Given the description of an element on the screen output the (x, y) to click on. 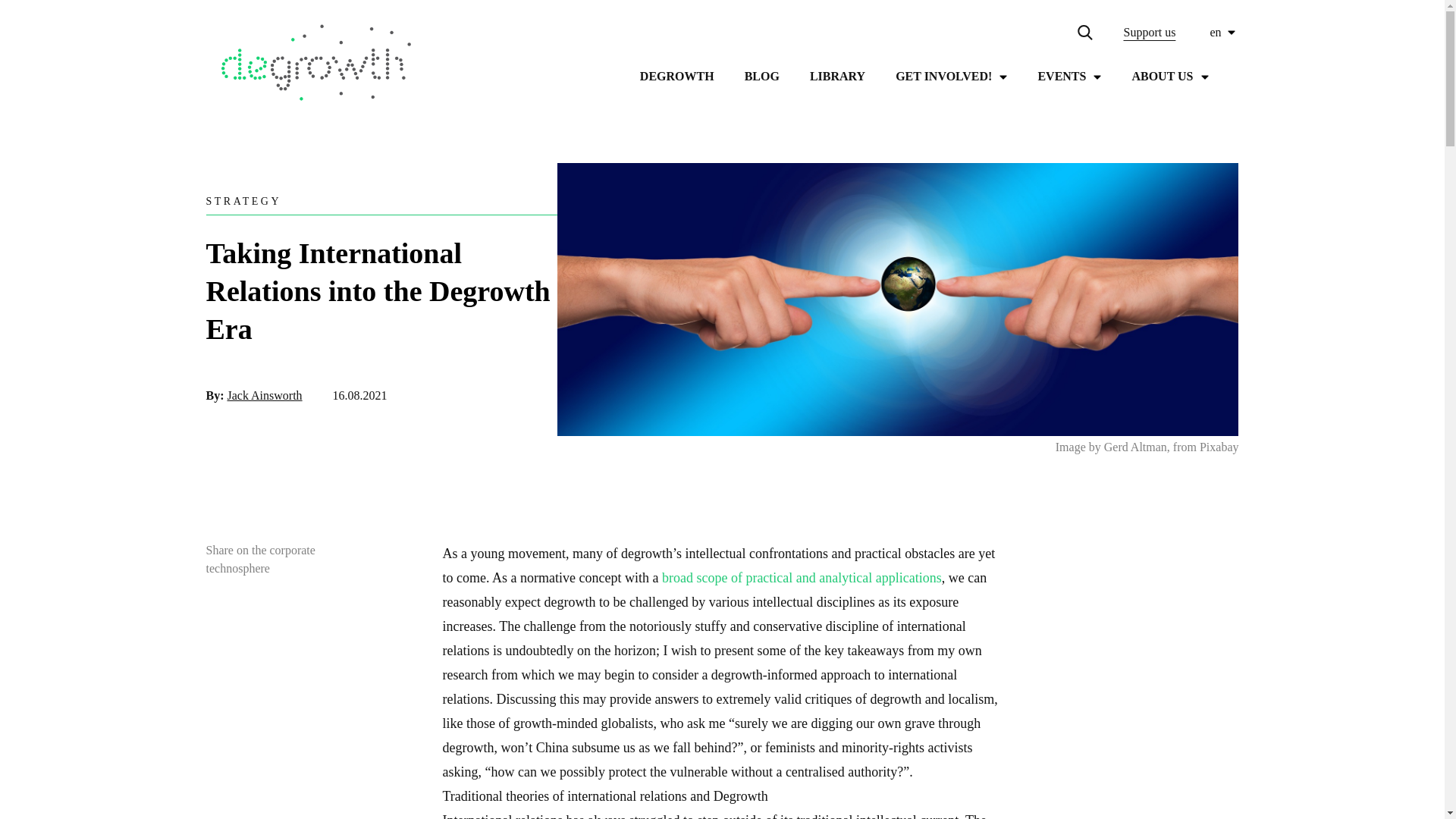
DEGROWTH (677, 76)
Support us (1148, 32)
STRATEGY (244, 201)
BLOG (761, 76)
Jack Ainsworth (264, 395)
broad scope of practical and analytical applications (802, 577)
Our Patreon (1148, 32)
LIBRARY (836, 76)
